Given the description of an element on the screen output the (x, y) to click on. 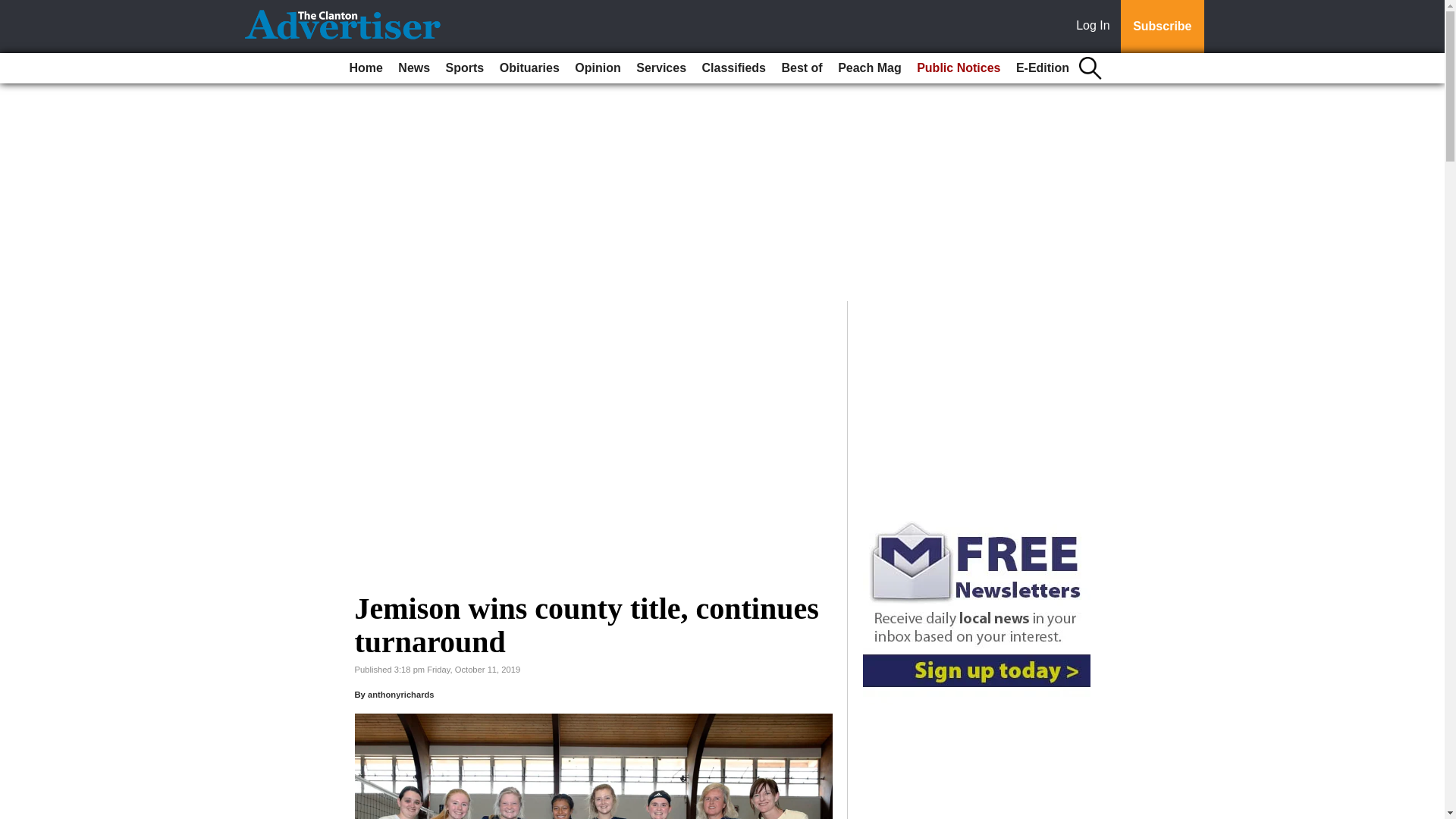
Log In (1095, 26)
Peach Mag (869, 68)
News (413, 68)
Classifieds (733, 68)
E-Edition (1042, 68)
Home (365, 68)
anthonyrichards (400, 694)
Subscribe (1162, 26)
Opinion (597, 68)
Obituaries (529, 68)
Services (661, 68)
Best of (801, 68)
Sports (464, 68)
Go (13, 9)
Public Notices (958, 68)
